Given the description of an element on the screen output the (x, y) to click on. 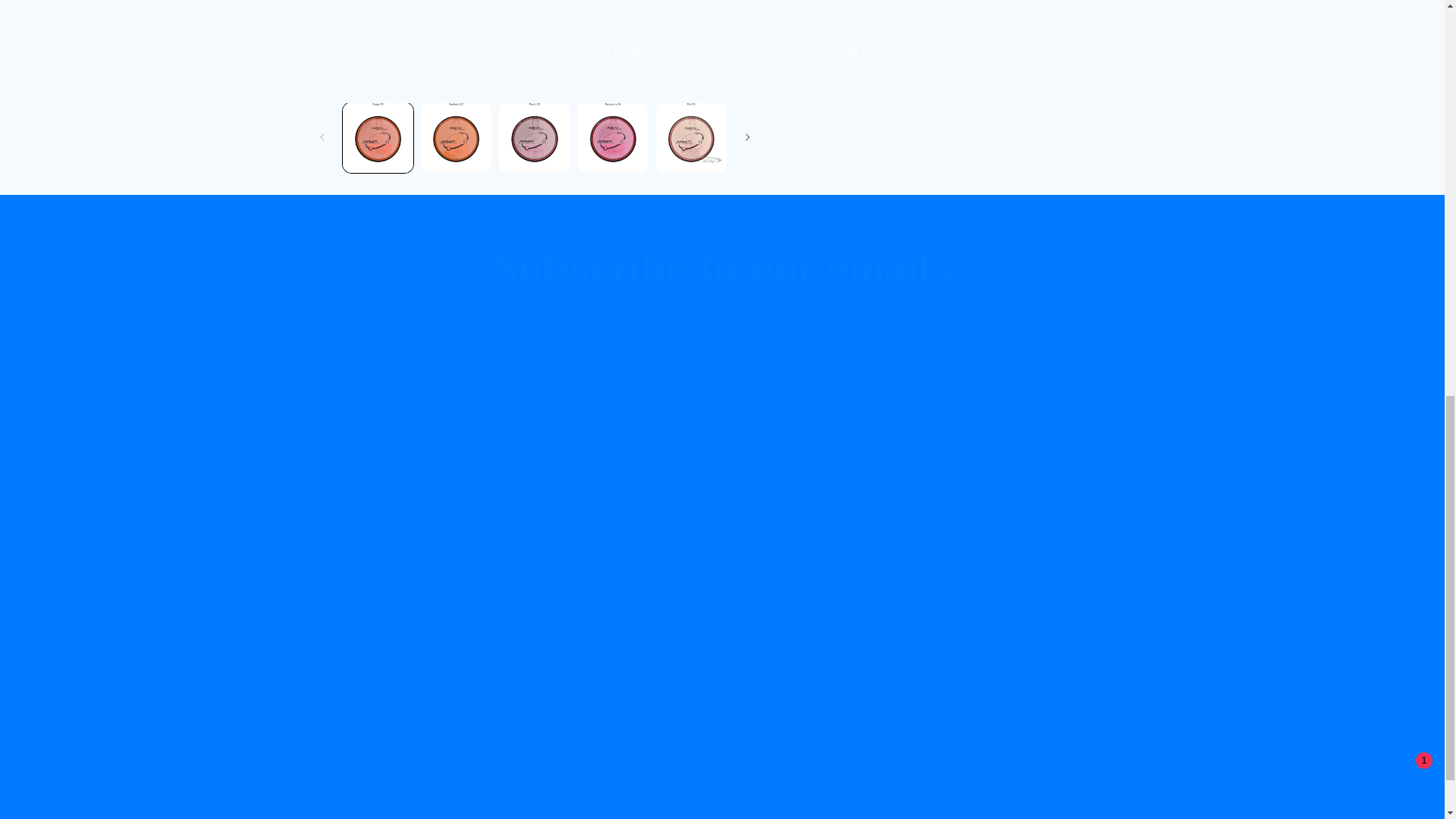
Subscribe to our emails (721, 670)
Email (721, 267)
